Given the description of an element on the screen output the (x, y) to click on. 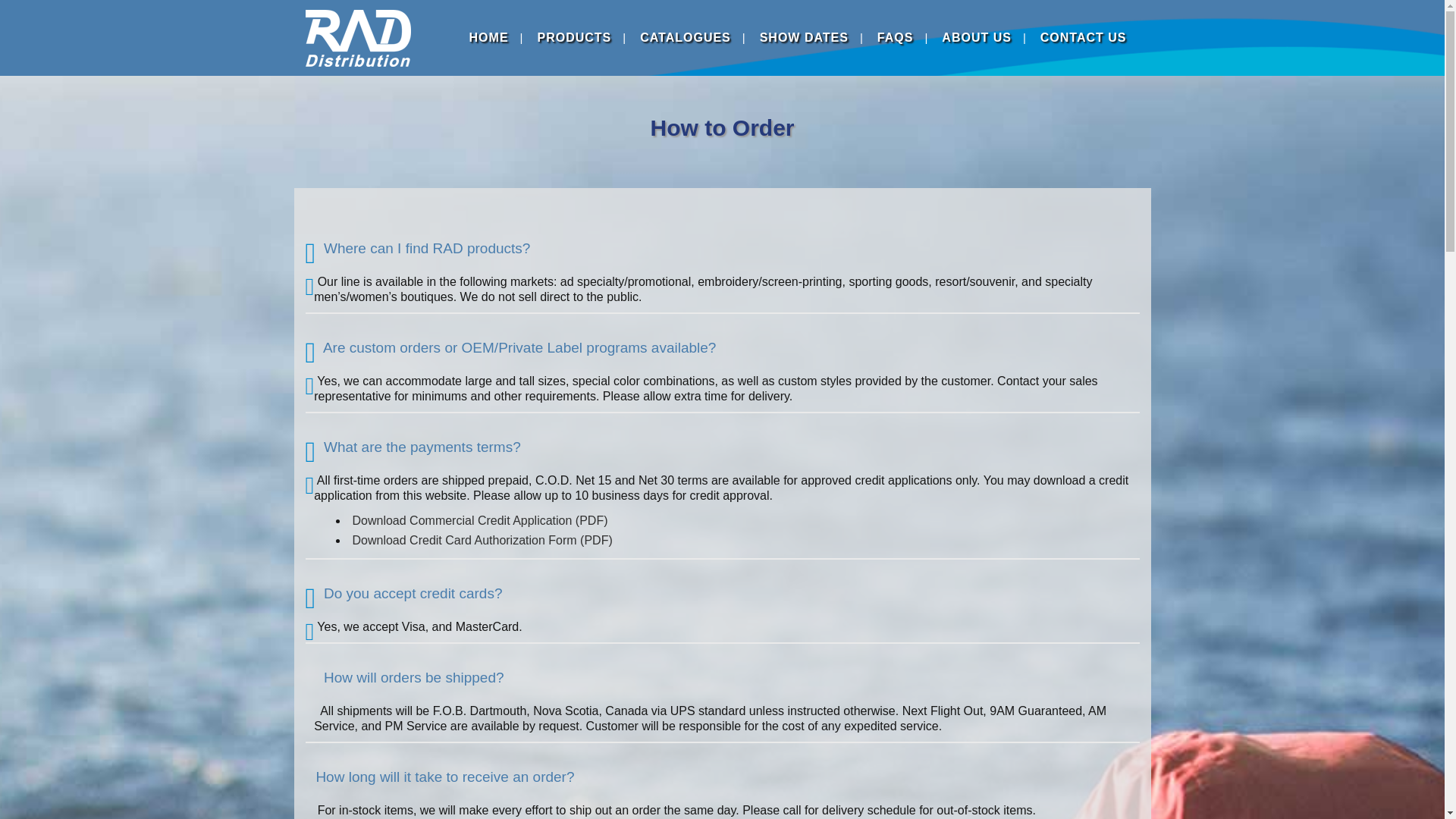
ABOUT US (976, 38)
SHOW DATES (803, 38)
CONTACT US (1083, 38)
PRODUCTS (574, 38)
CATALOGUES (685, 38)
